Given the description of an element on the screen output the (x, y) to click on. 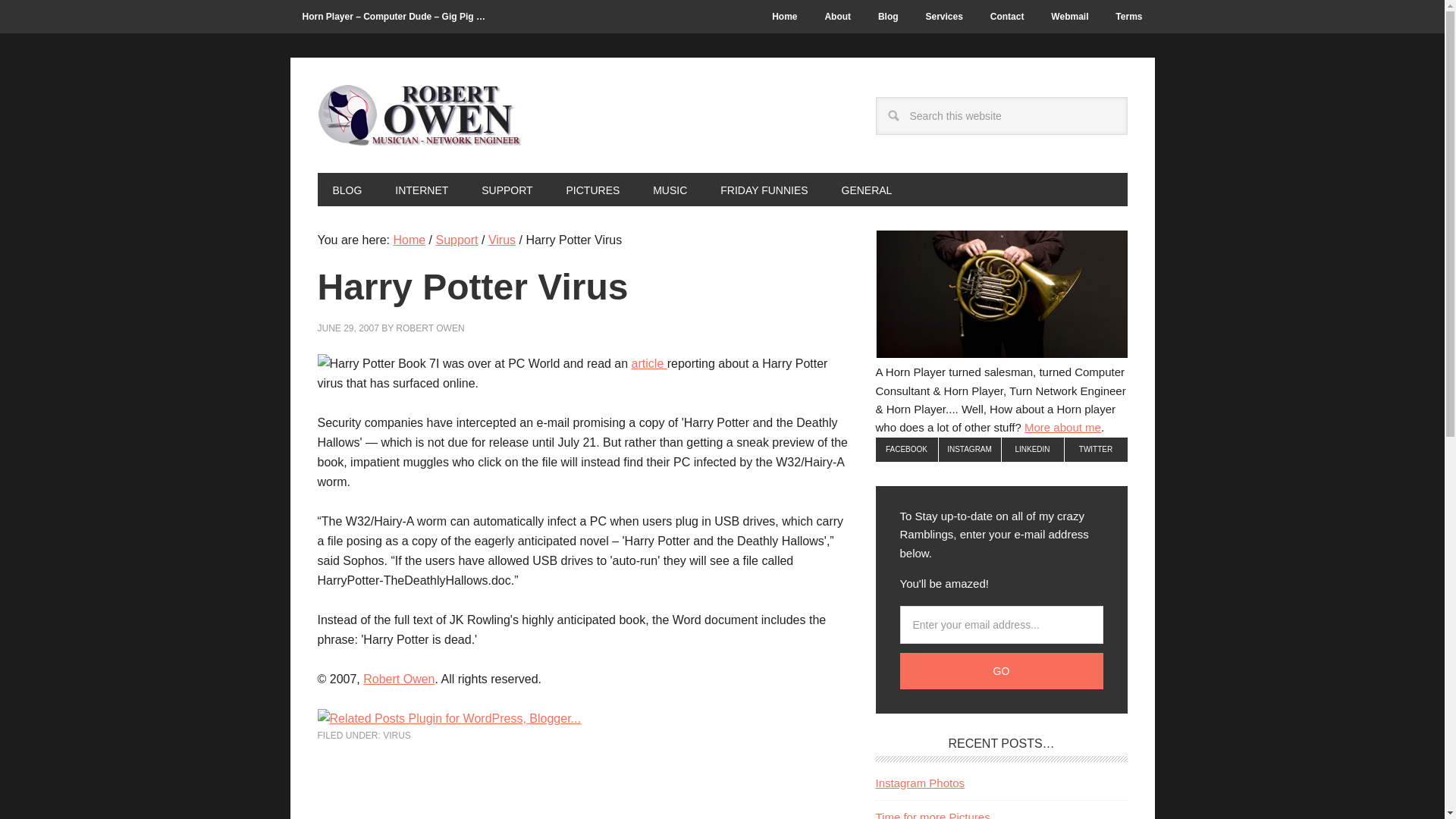
PICTURES (592, 189)
Blog (888, 16)
SUPPORT (506, 189)
About (837, 16)
Home (784, 16)
Terms (1128, 16)
GENERAL (867, 189)
MUSIC (669, 189)
Contact Us (1007, 16)
Access your Webmail (1069, 16)
FRIDAY FUNNIES (763, 189)
Home (784, 16)
Support (506, 189)
Go (1000, 670)
